Given the description of an element on the screen output the (x, y) to click on. 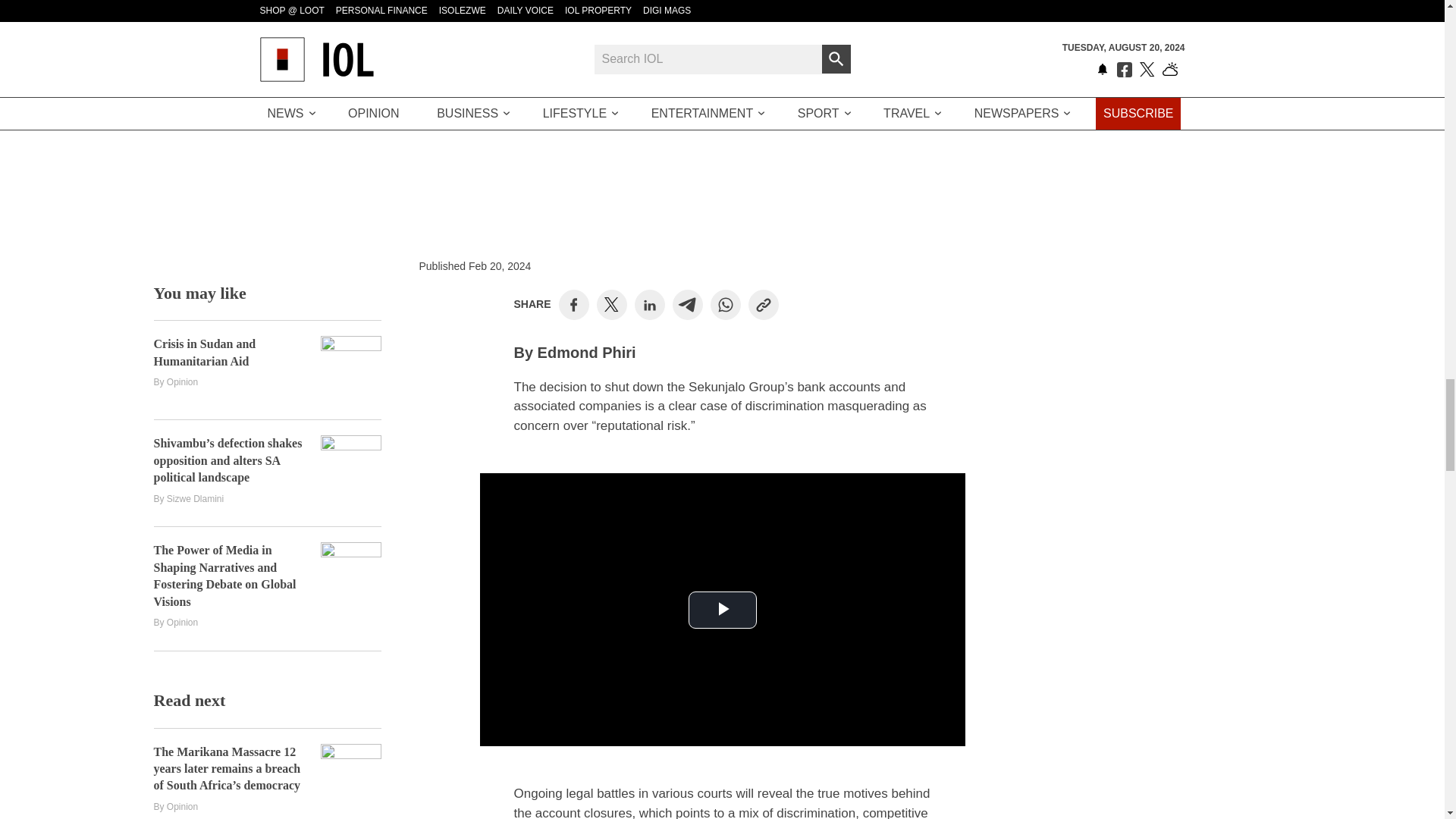
Share on Facebook (573, 304)
Share on WhatsApp (725, 304)
Share on Telegram (686, 304)
Copy to Clipboard (763, 304)
Share on LinkedIn (648, 304)
Share on Twitter (611, 304)
Play Video (722, 609)
